Given the description of an element on the screen output the (x, y) to click on. 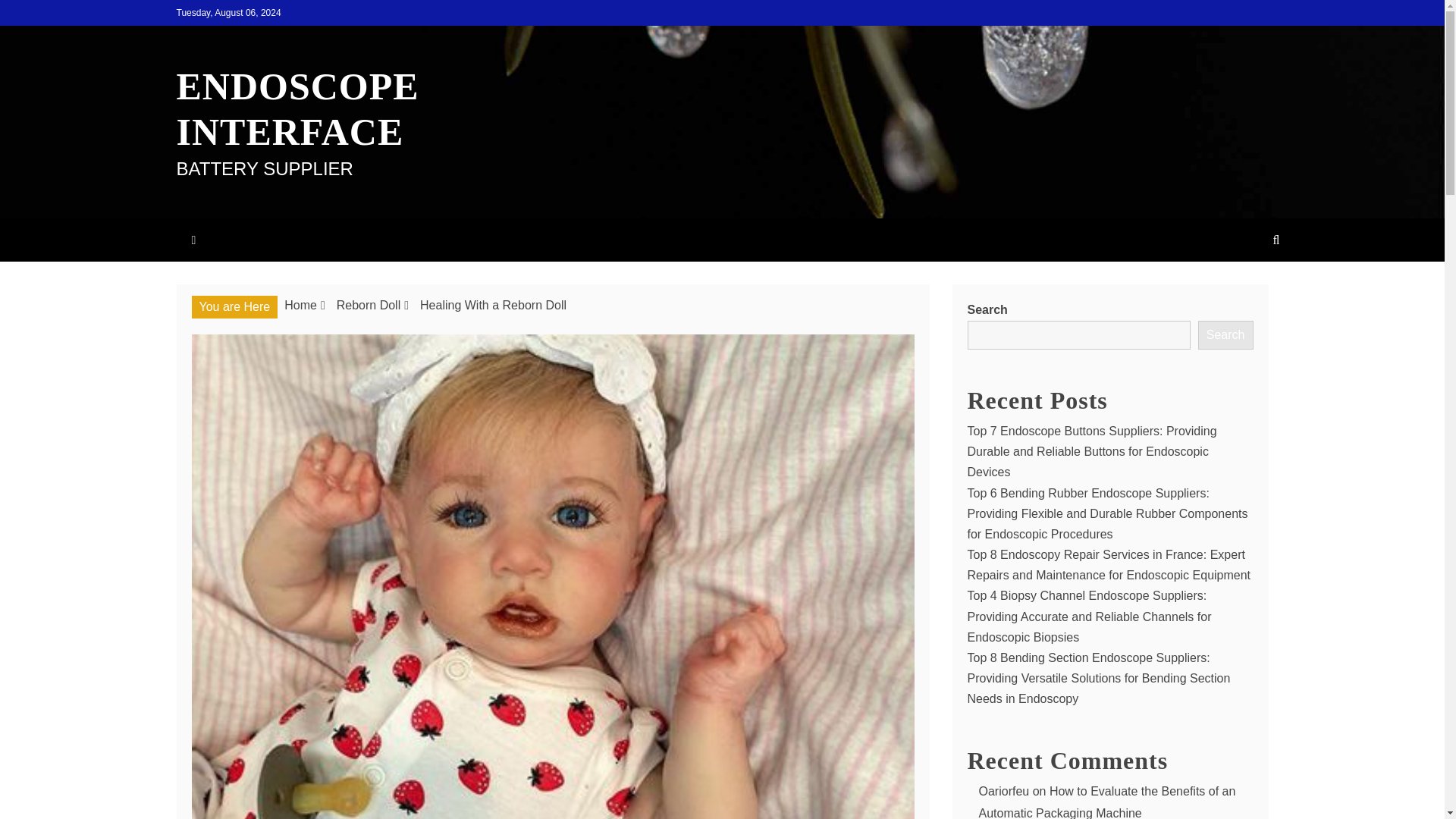
Home (300, 305)
ENDOSCOPE INTERFACE (297, 109)
Reborn Doll (368, 305)
Search (1225, 335)
